Given the description of an element on the screen output the (x, y) to click on. 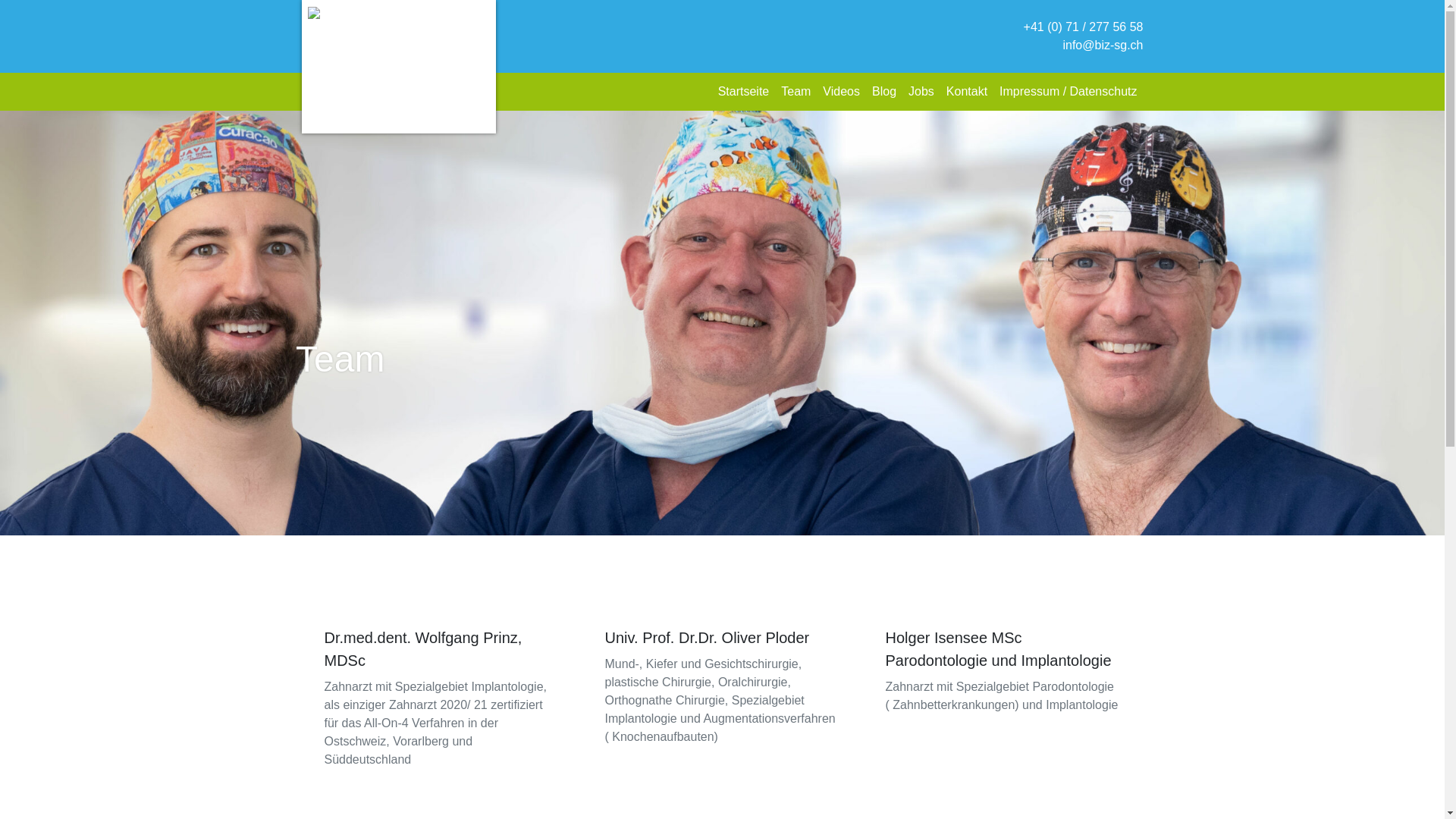
Jobs Element type: text (921, 90)
+41 (0) 71 / 277 56 58 Element type: text (1083, 26)
Startseite Element type: text (743, 90)
info@biz-sg.ch Element type: text (1102, 44)
Team Element type: text (795, 90)
Videos Element type: text (840, 90)
Blog Element type: text (884, 90)
Impressum / Datenschutz Element type: text (1067, 90)
Kontakt Element type: text (966, 90)
